Given the description of an element on the screen output the (x, y) to click on. 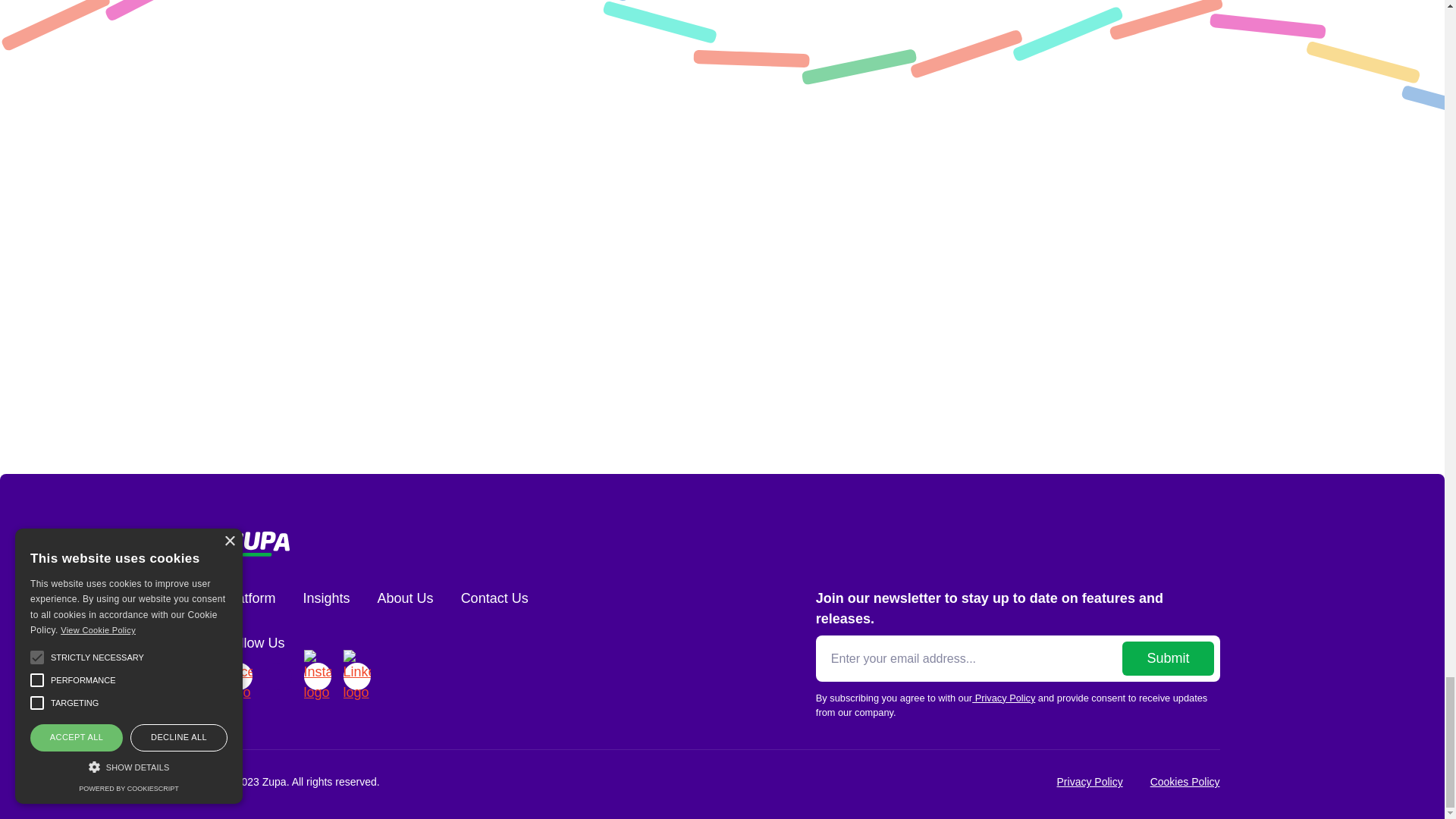
About Us (405, 598)
Contact Us (494, 598)
Submit (1167, 658)
Insights (326, 598)
Cookies Policy (1185, 781)
Privacy Policy (1003, 697)
Platform (249, 598)
Submit (1167, 658)
Privacy Policy (1089, 781)
Send Message (709, 380)
